Given the description of an element on the screen output the (x, y) to click on. 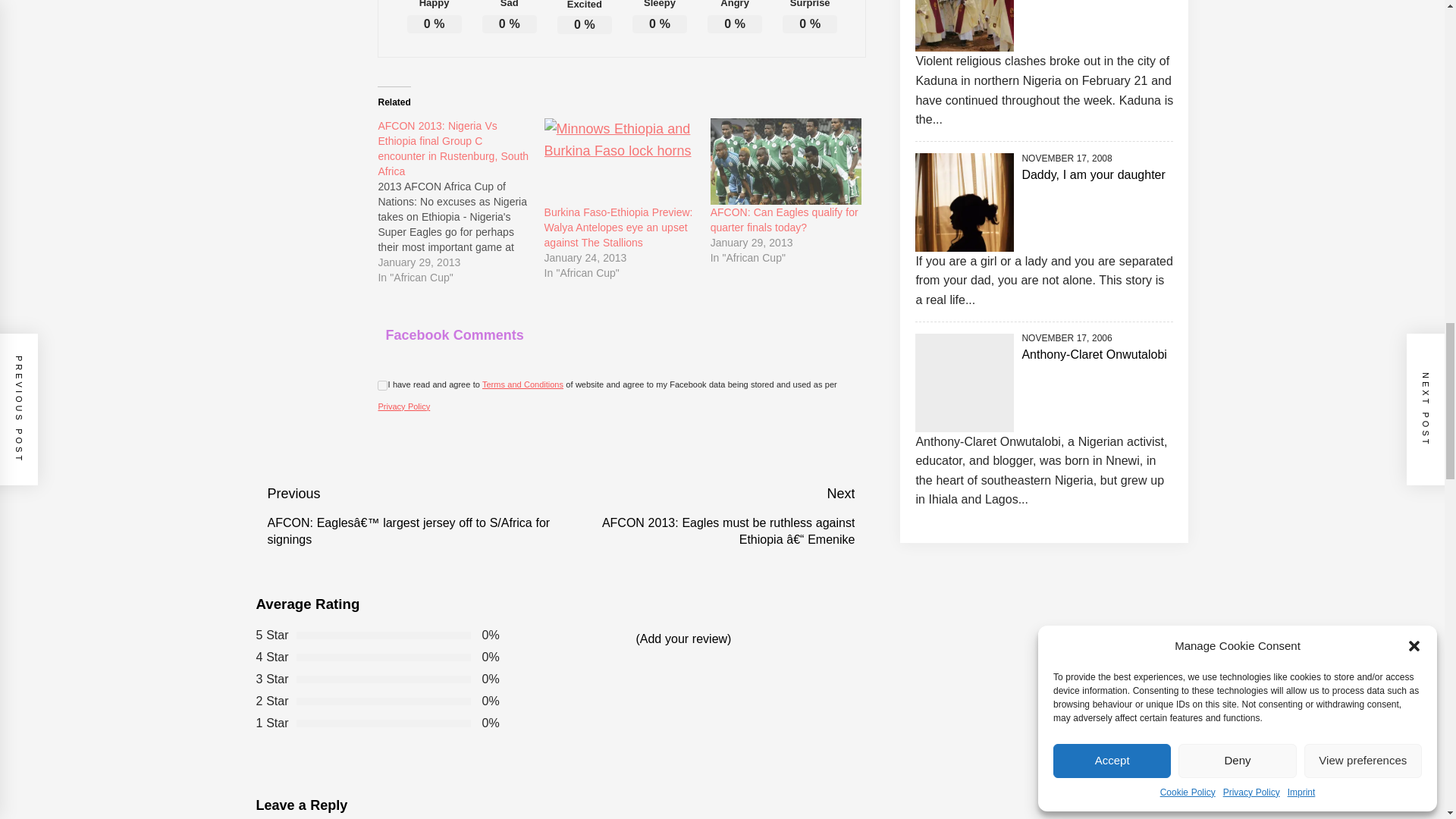
1 (382, 385)
